Given the description of an element on the screen output the (x, y) to click on. 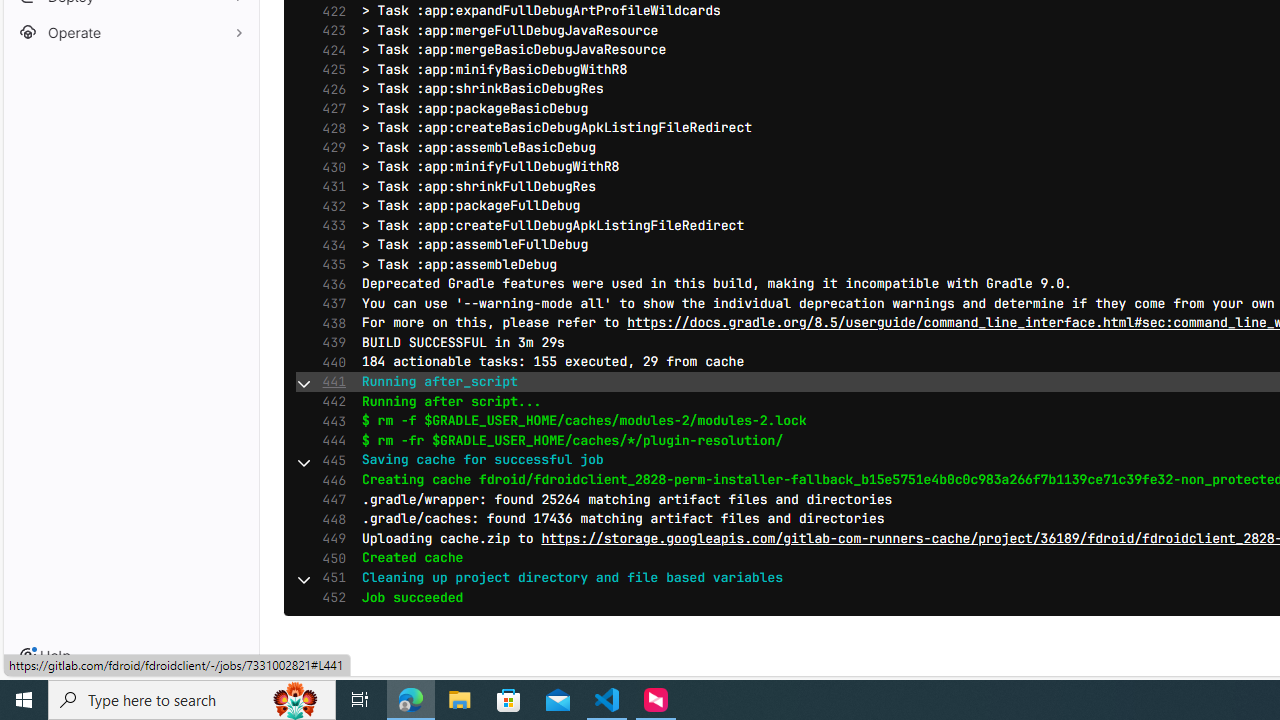
450 (329, 557)
Help (45, 655)
434 (329, 245)
429 (329, 147)
423 (329, 30)
442 (329, 401)
447 (329, 499)
445 (329, 460)
424 (329, 50)
426 (329, 89)
425 (329, 69)
438 (329, 323)
427 (329, 108)
Operate (130, 31)
435 (329, 264)
